Given the description of an element on the screen output the (x, y) to click on. 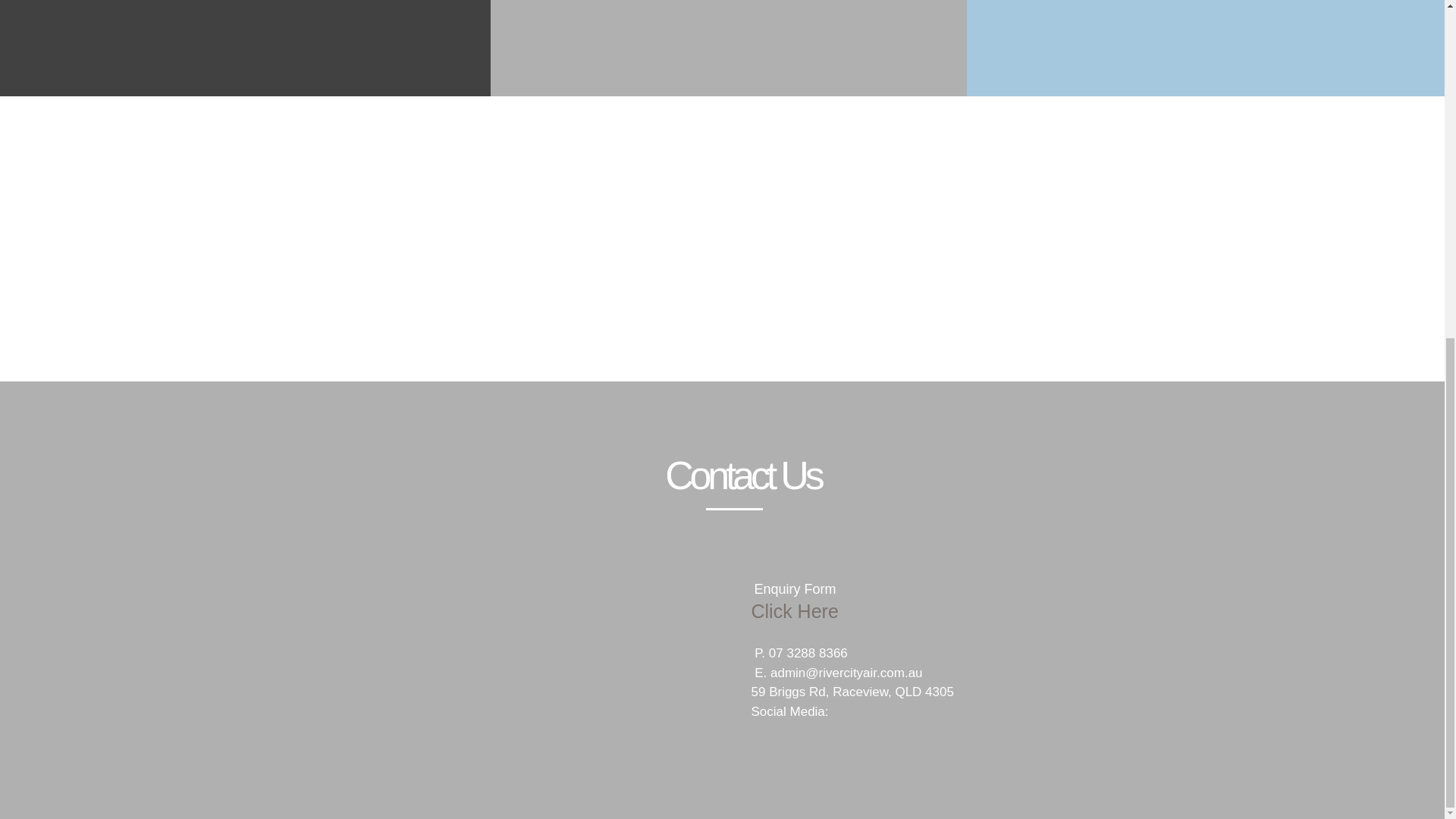
Click Here (867, 611)
